Given the description of an element on the screen output the (x, y) to click on. 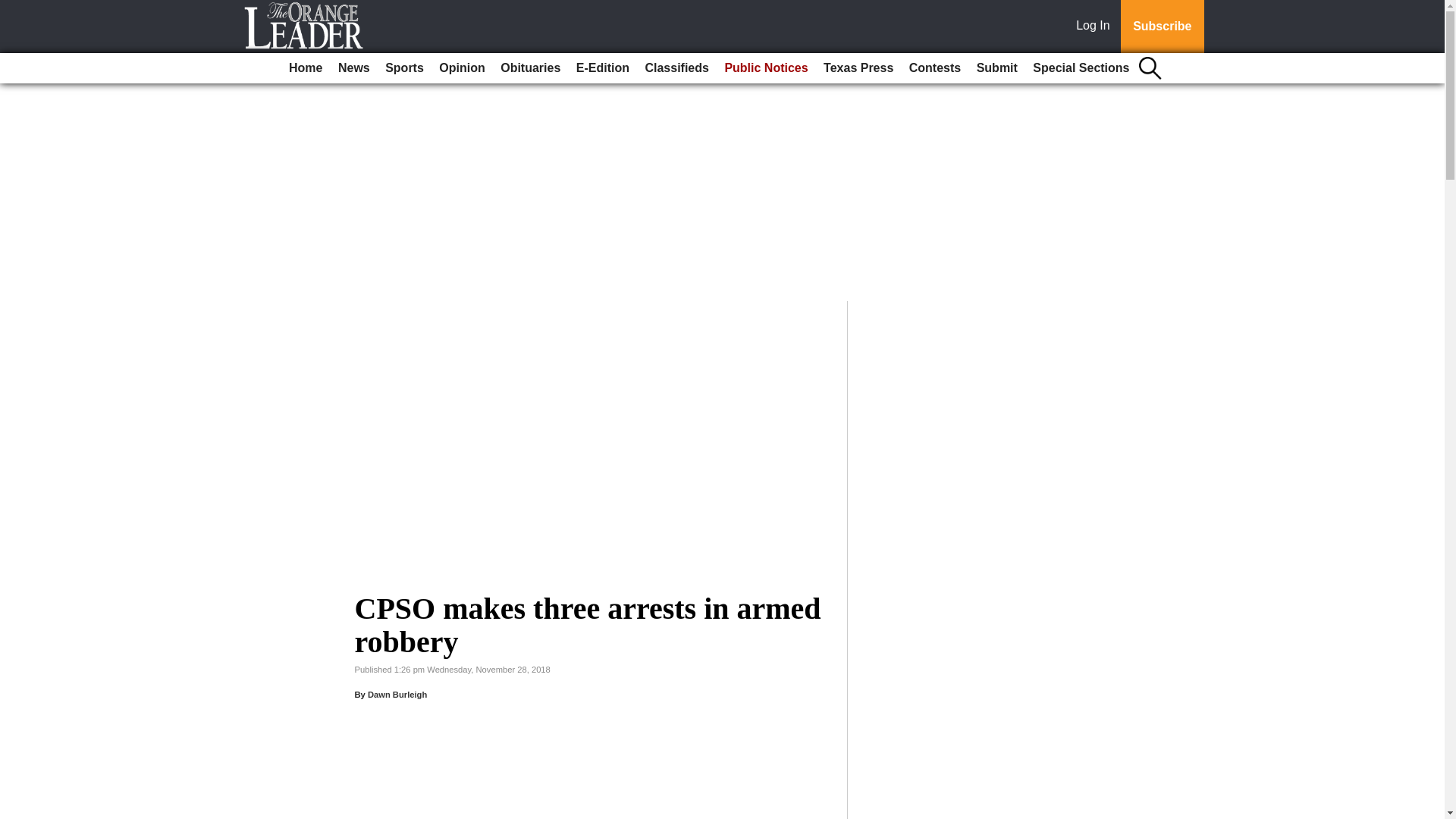
Obituaries (530, 68)
Submit (997, 68)
Texas Press (857, 68)
Sports (403, 68)
Classifieds (676, 68)
Go (13, 9)
E-Edition (602, 68)
Contests (934, 68)
News (353, 68)
Special Sections (1080, 68)
Opinion (461, 68)
Subscribe (1162, 26)
Home (305, 68)
Dawn Burleigh (397, 694)
Log In (1095, 26)
